Given the description of an element on the screen output the (x, y) to click on. 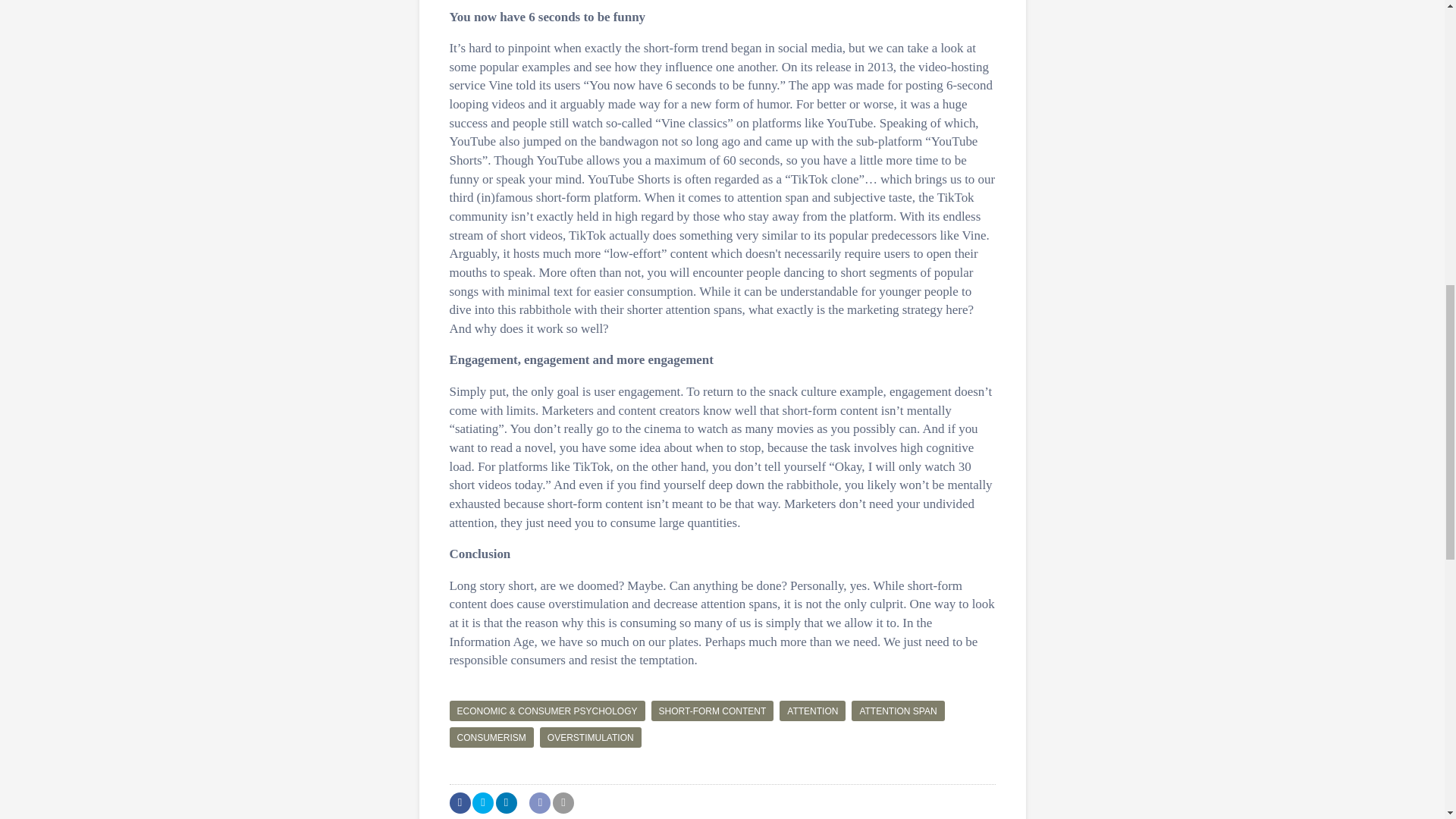
CONSUMERISM (490, 737)
OVERSTIMULATION (591, 737)
SHORT-FORM CONTENT (712, 711)
Print (563, 803)
ATTENTION (811, 711)
ATTENTION SPAN (897, 711)
